Given the description of an element on the screen output the (x, y) to click on. 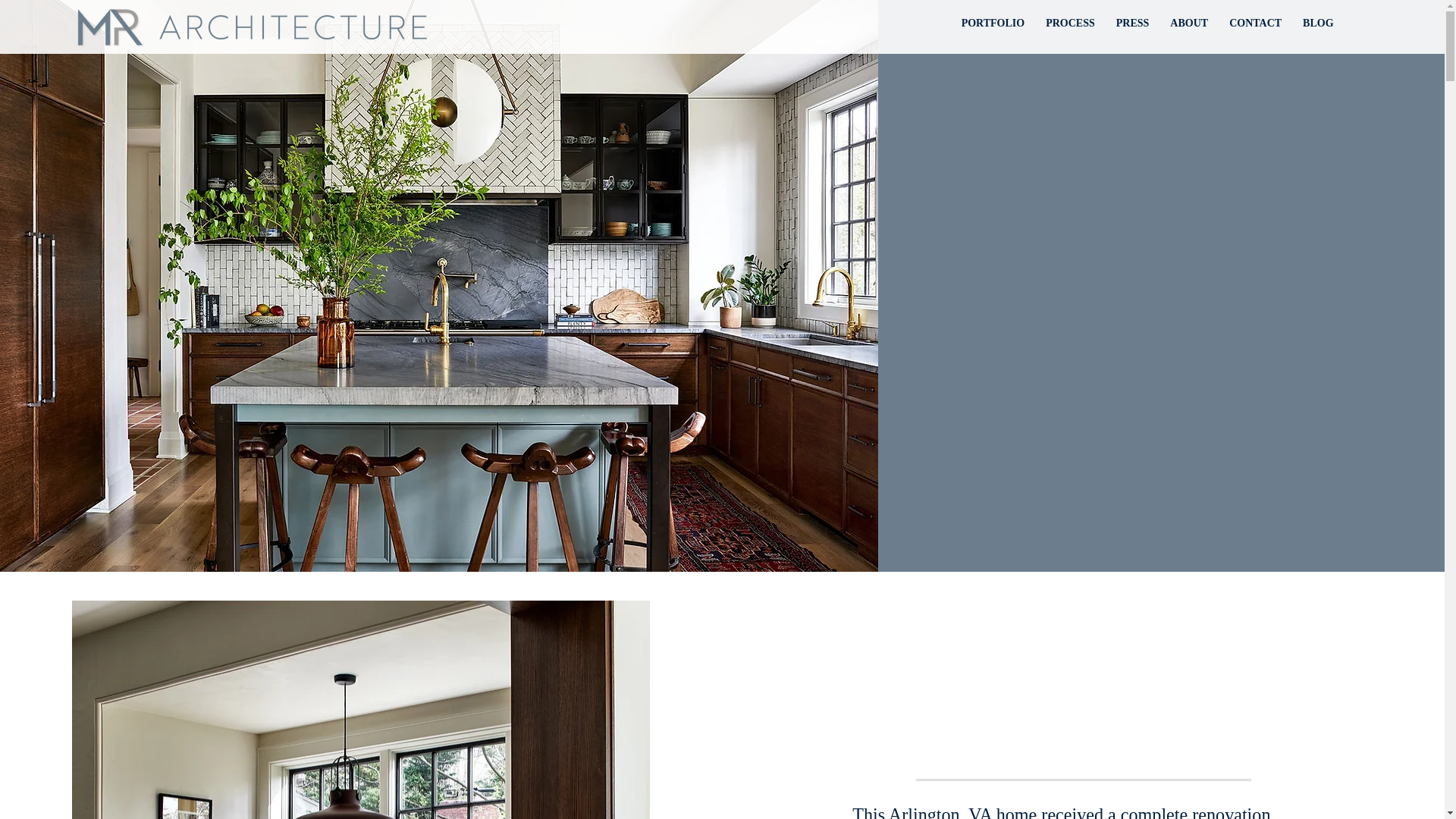
PRESS (1132, 22)
PROCESS (1070, 22)
PORTFOLIO (992, 22)
CONTACT (1254, 22)
BLOG (1317, 22)
ABOUT (1188, 22)
